Given the description of an element on the screen output the (x, y) to click on. 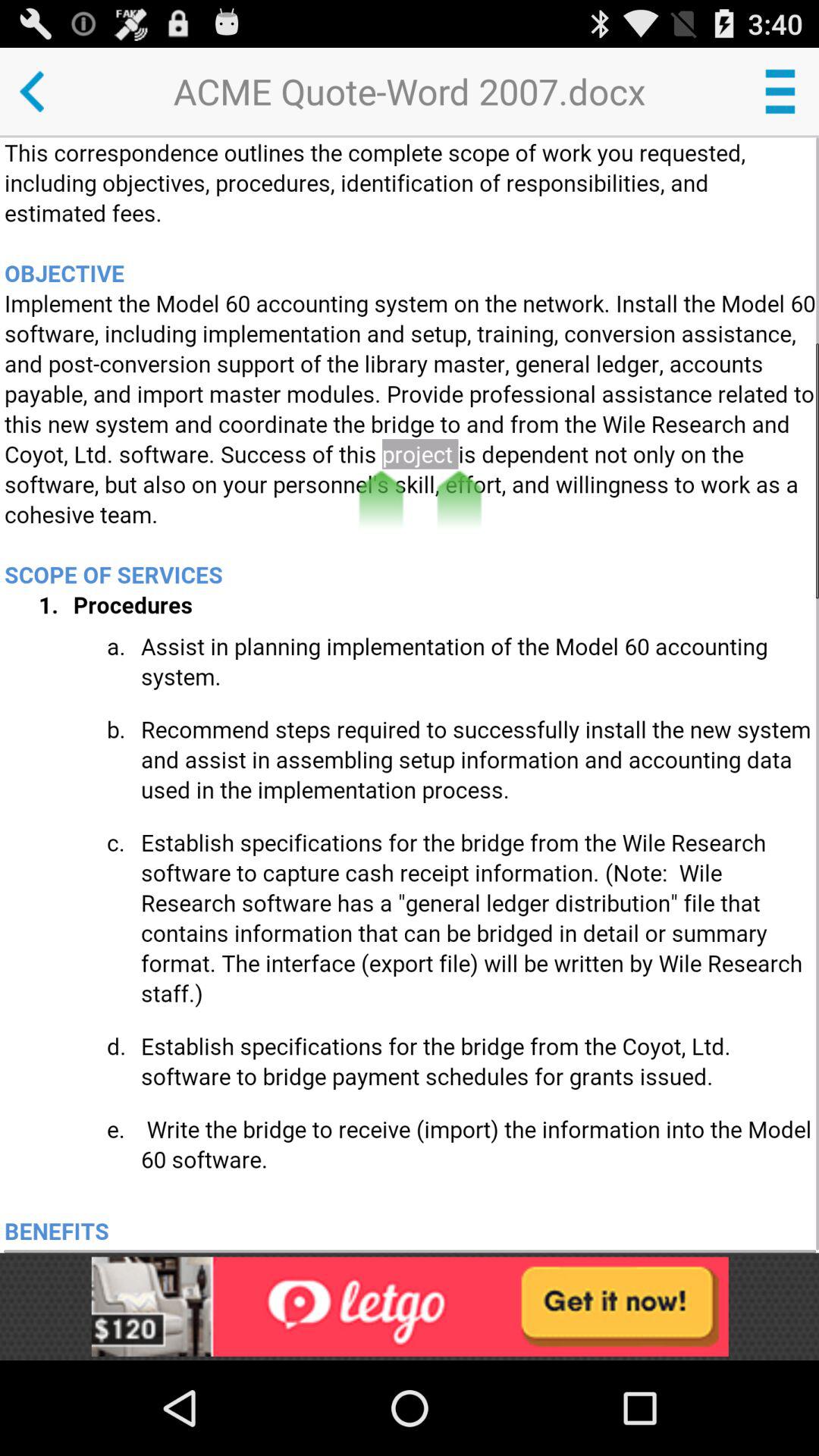
read advertisement (409, 1306)
